Given the description of an element on the screen output the (x, y) to click on. 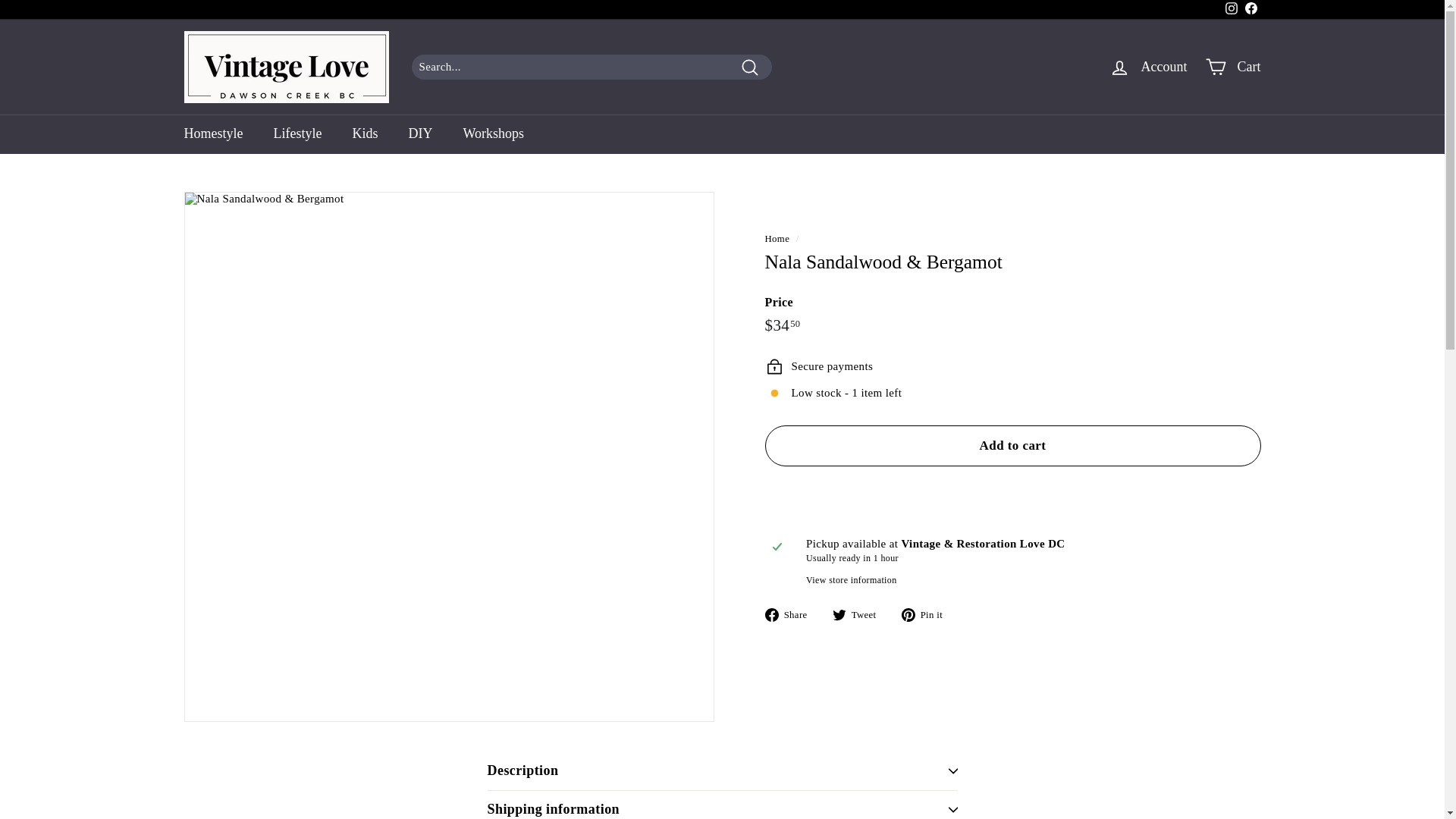
Share on Facebook (791, 615)
Vintage Love DC on Instagram (1230, 9)
Back to the frontpage (776, 238)
Tweet on Twitter (860, 615)
Vintage Love DC on Facebook (1250, 9)
Instagram (1230, 9)
Pin on Pinterest (927, 615)
Facebook (1250, 9)
Homestyle (212, 133)
Lifestyle (296, 133)
